Given the description of an element on the screen output the (x, y) to click on. 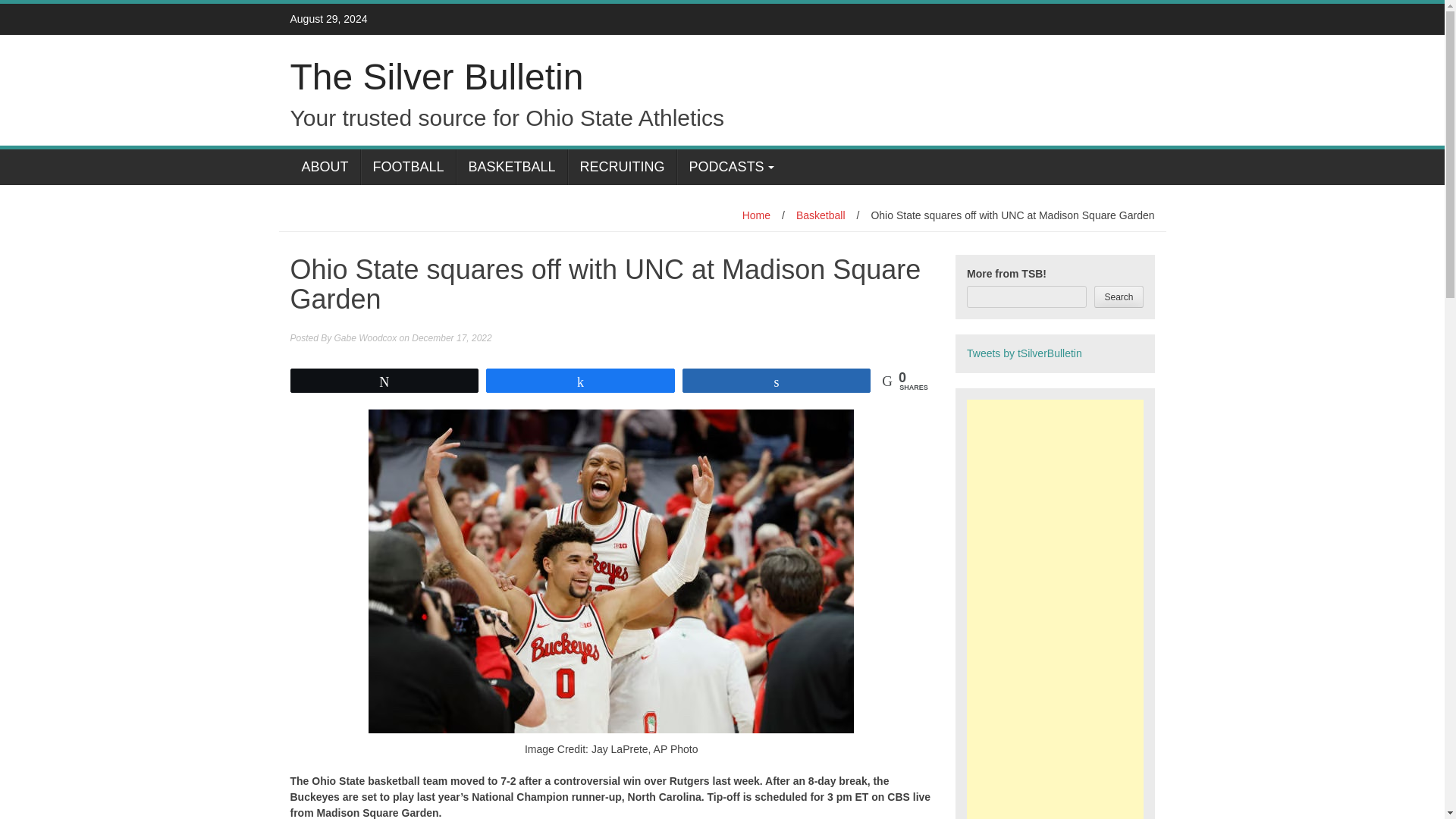
ABOUT (324, 167)
BASKETBALL (512, 167)
FOOTBALL (408, 167)
RECRUITING (622, 167)
Search (1118, 296)
Basketball (820, 215)
PODCASTS (731, 167)
Home (756, 215)
The Silver Bulletin (436, 76)
Tweets by tSilverBulletin (1023, 353)
